Given the description of an element on the screen output the (x, y) to click on. 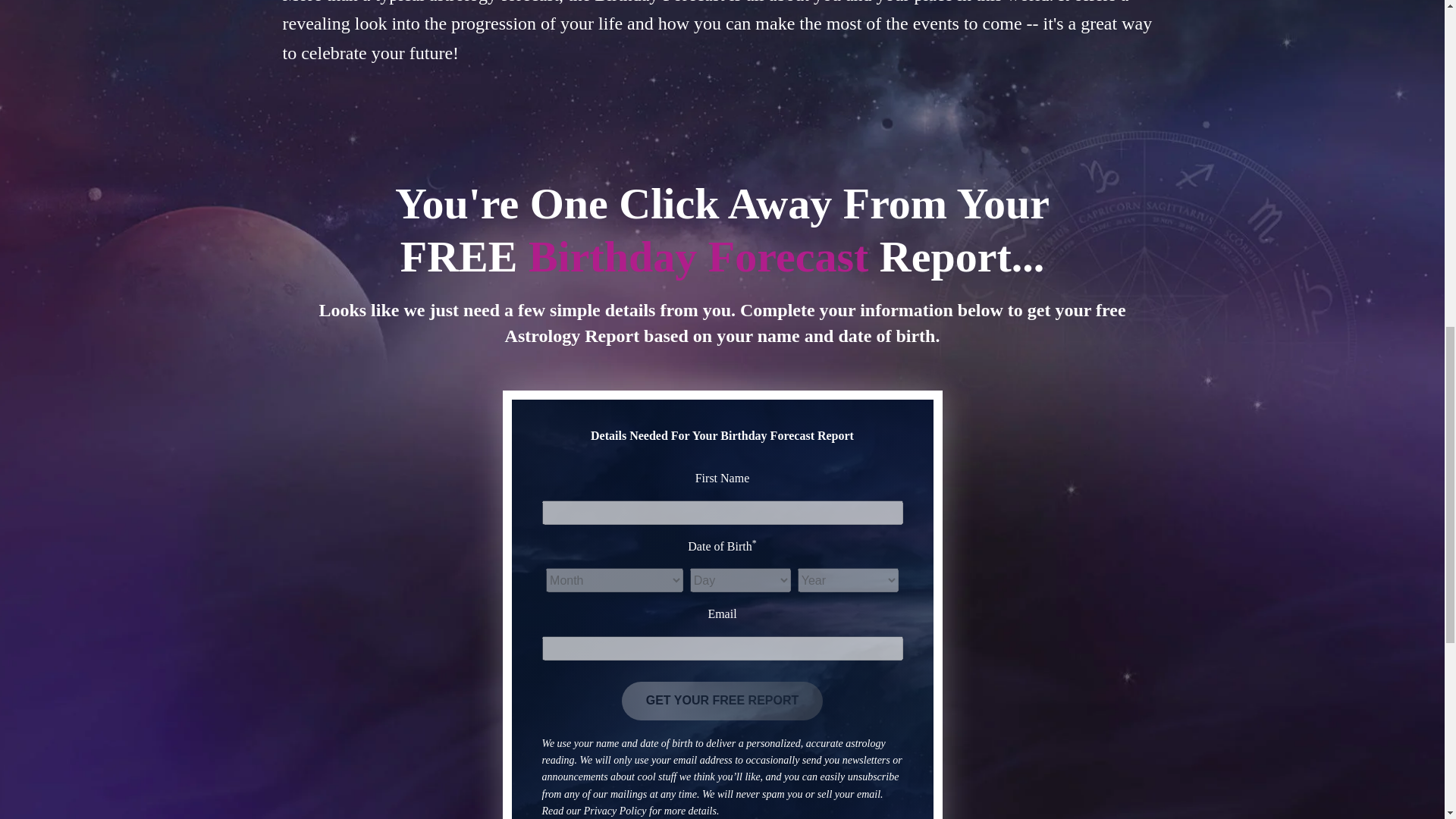
GET YOUR FREE REPORT (722, 700)
Privacy Policy (614, 810)
